Given the description of an element on the screen output the (x, y) to click on. 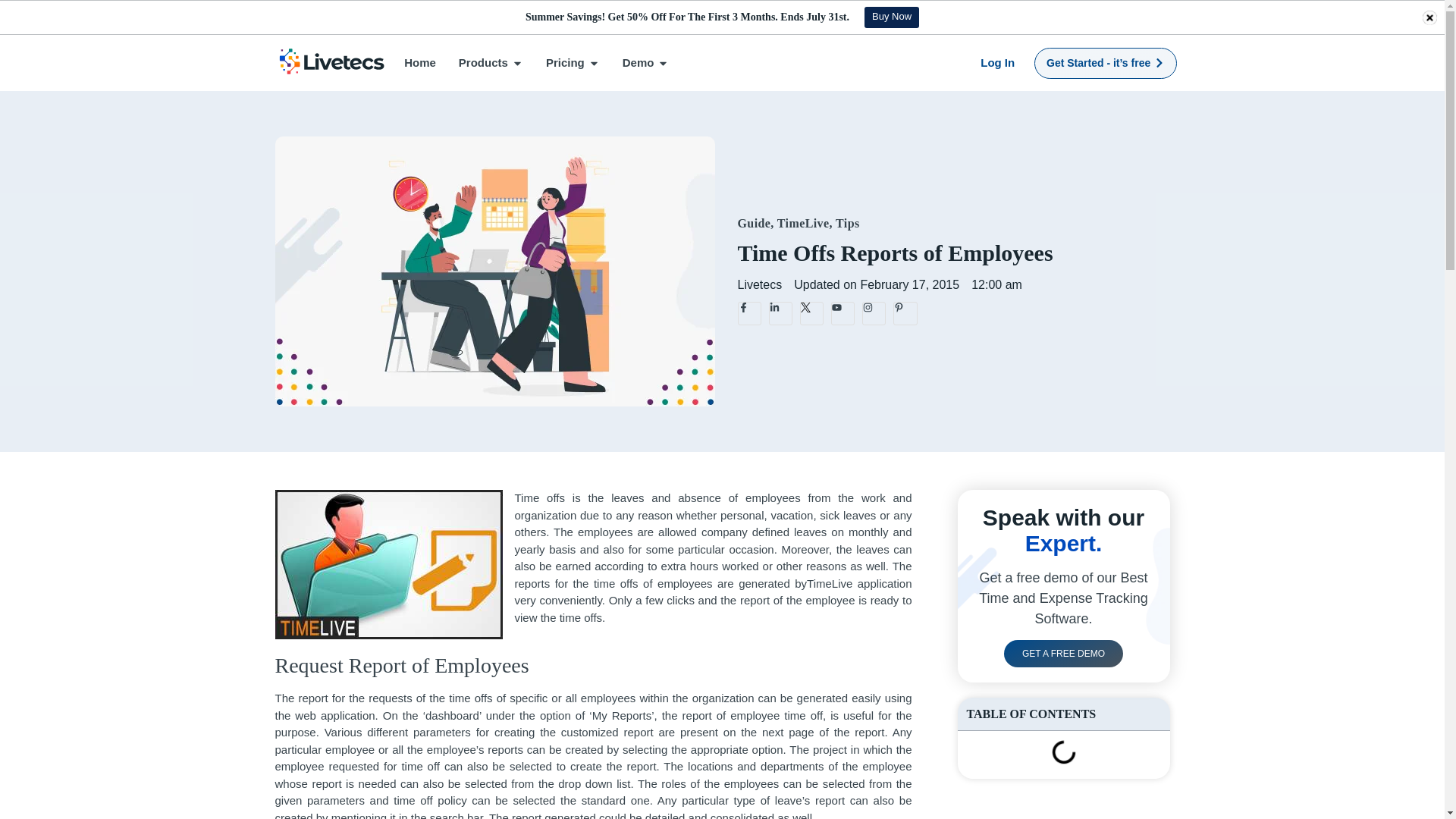
Buy Now (891, 16)
Home (419, 63)
